Given the description of an element on the screen output the (x, y) to click on. 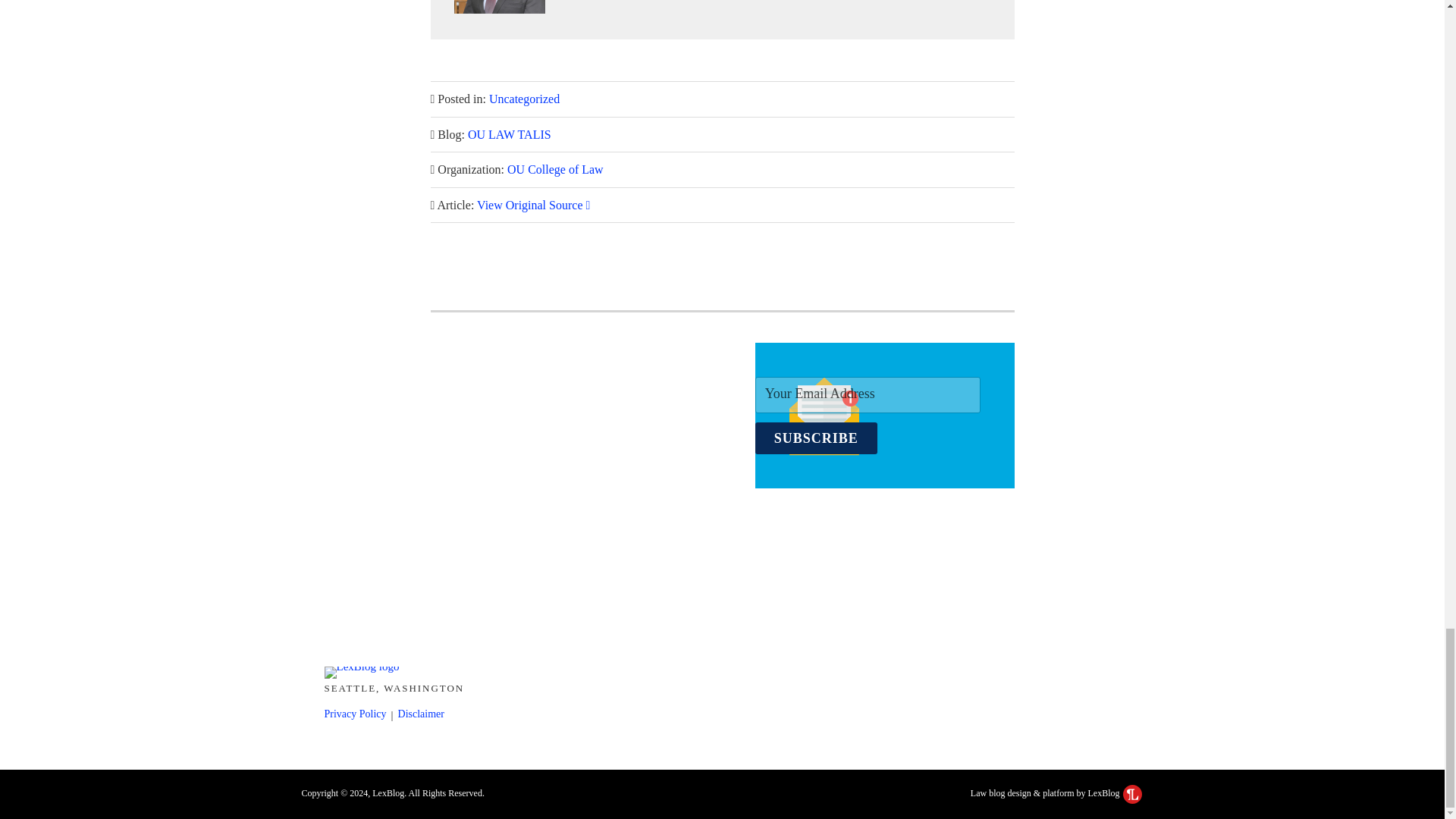
OU LAW TALIS (509, 133)
Disclaimer (420, 713)
SUBSCRIBE (816, 438)
OU College of Law (555, 169)
Privacy Policy (355, 713)
LexBlog Logo (1131, 793)
View Original Source (533, 205)
Uncategorized (524, 98)
SUBSCRIBE (816, 438)
